Given the description of an element on the screen output the (x, y) to click on. 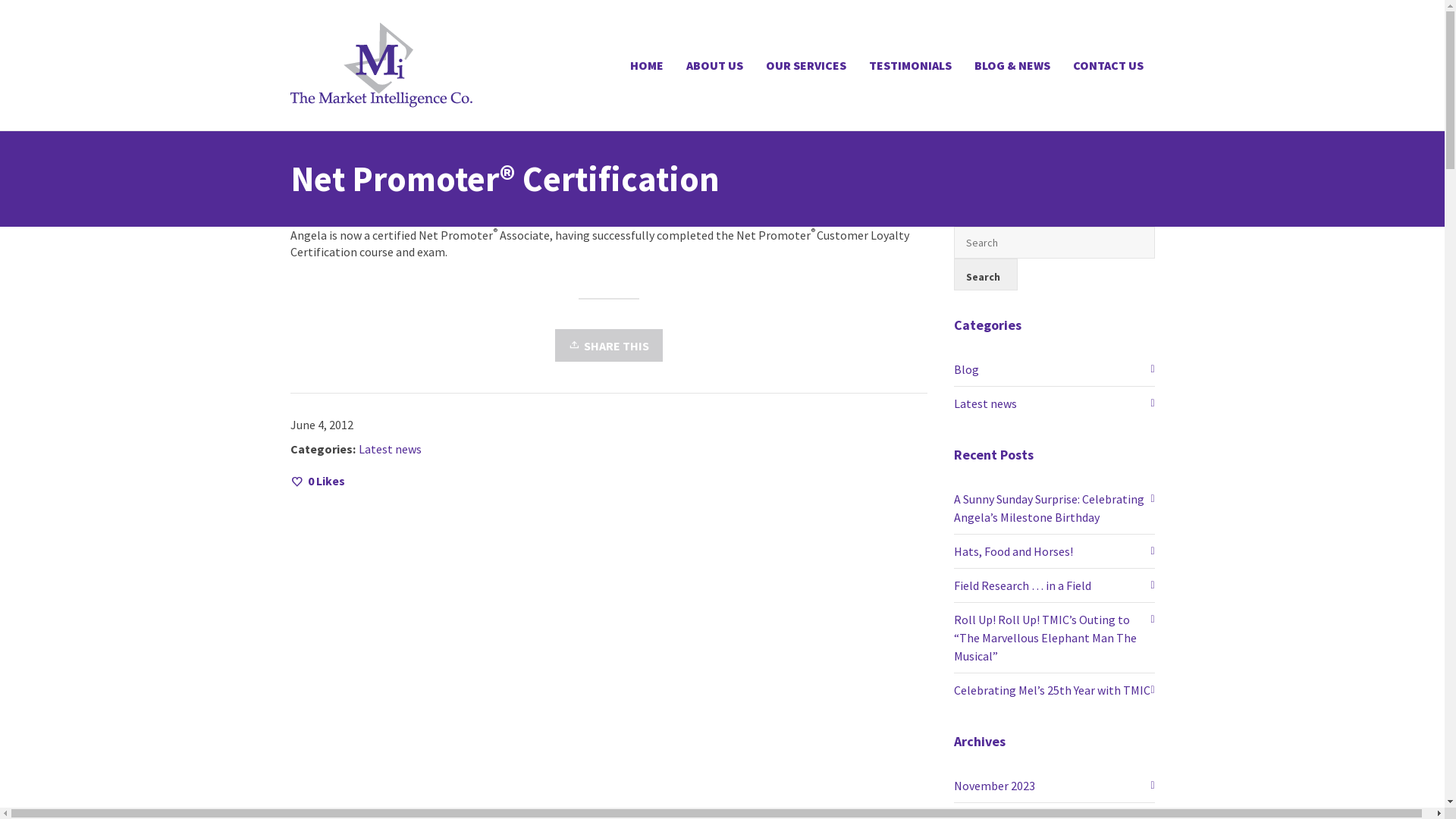
November 2023 Element type: text (1053, 785)
Blog Element type: text (1053, 368)
OUR SERVICES Element type: text (804, 65)
BLOG & NEWS Element type: text (1012, 65)
ABOUT US Element type: text (714, 65)
CONTACT US Element type: text (1107, 65)
Hats, Food and Horses! Element type: text (1053, 550)
Latest news Element type: text (1053, 403)
HOME Element type: text (646, 65)
Latest news Element type: text (388, 448)
Search Element type: text (985, 274)
0 Likes Element type: text (316, 480)
TESTIMONIALS Element type: text (909, 65)
